Given the description of an element on the screen output the (x, y) to click on. 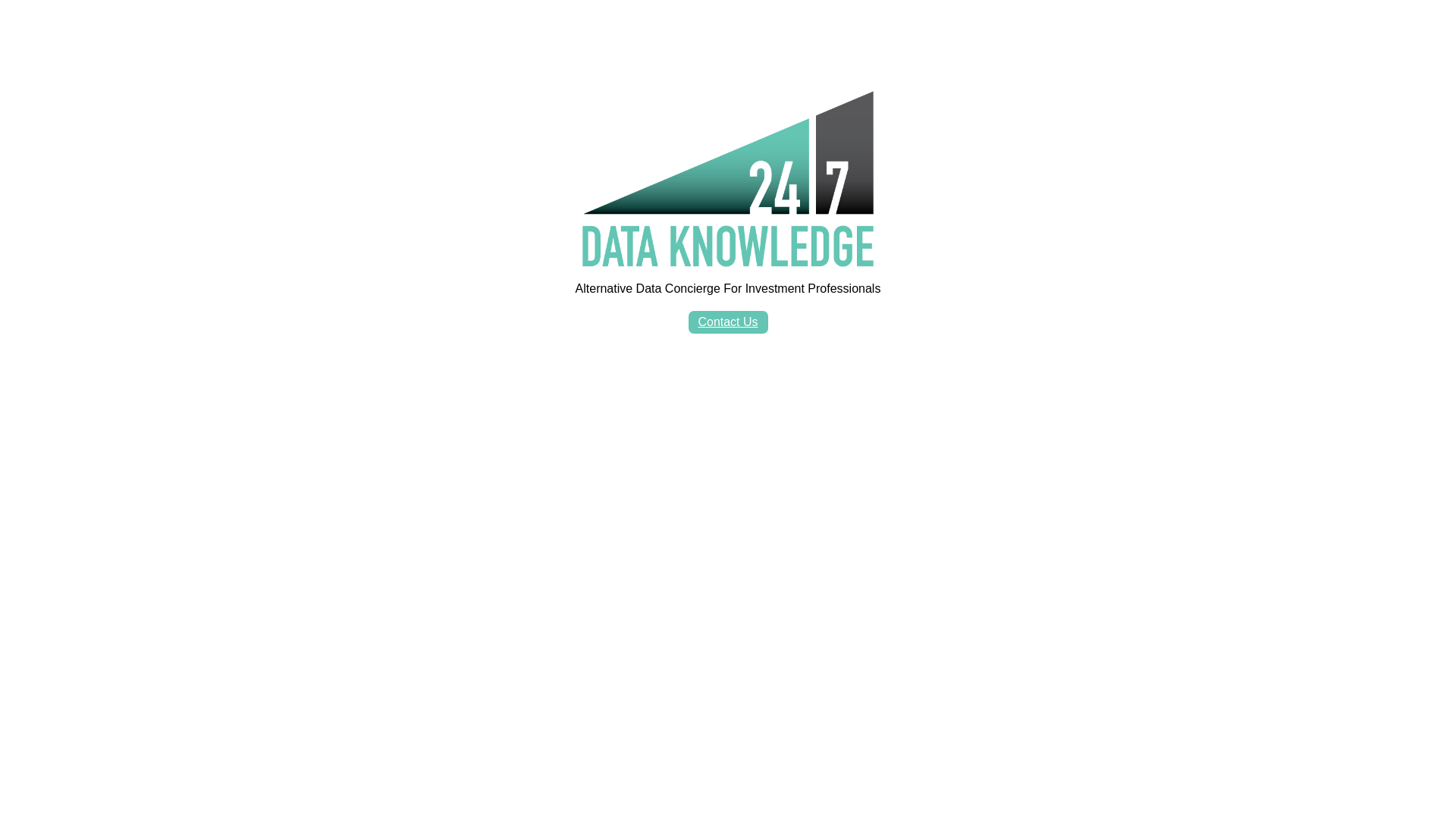
Contact Us Element type: text (728, 321)
